Given the description of an element on the screen output the (x, y) to click on. 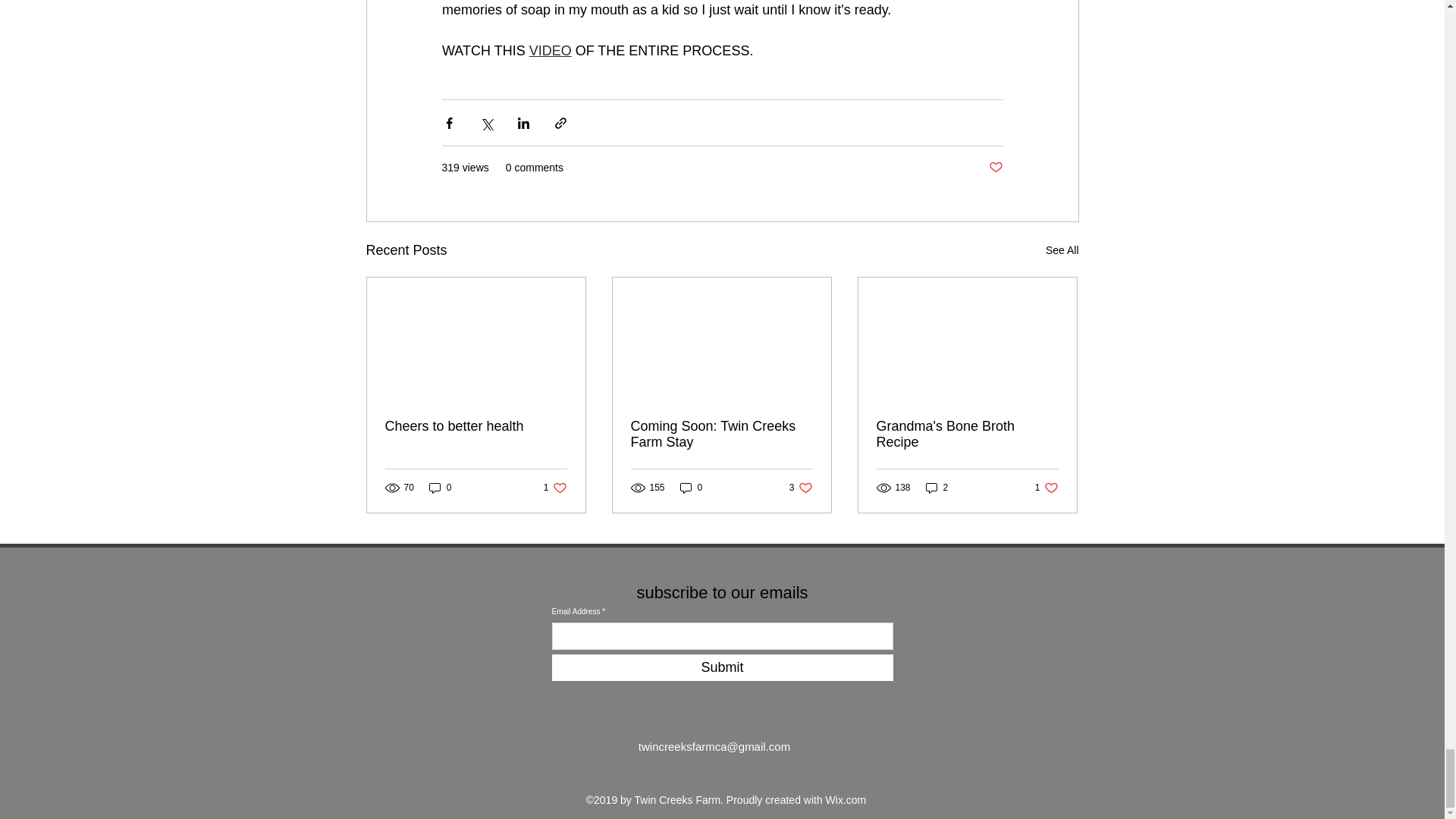
See All (1061, 250)
VIDEO (549, 50)
Post not marked as liked (995, 167)
